Given the description of an element on the screen output the (x, y) to click on. 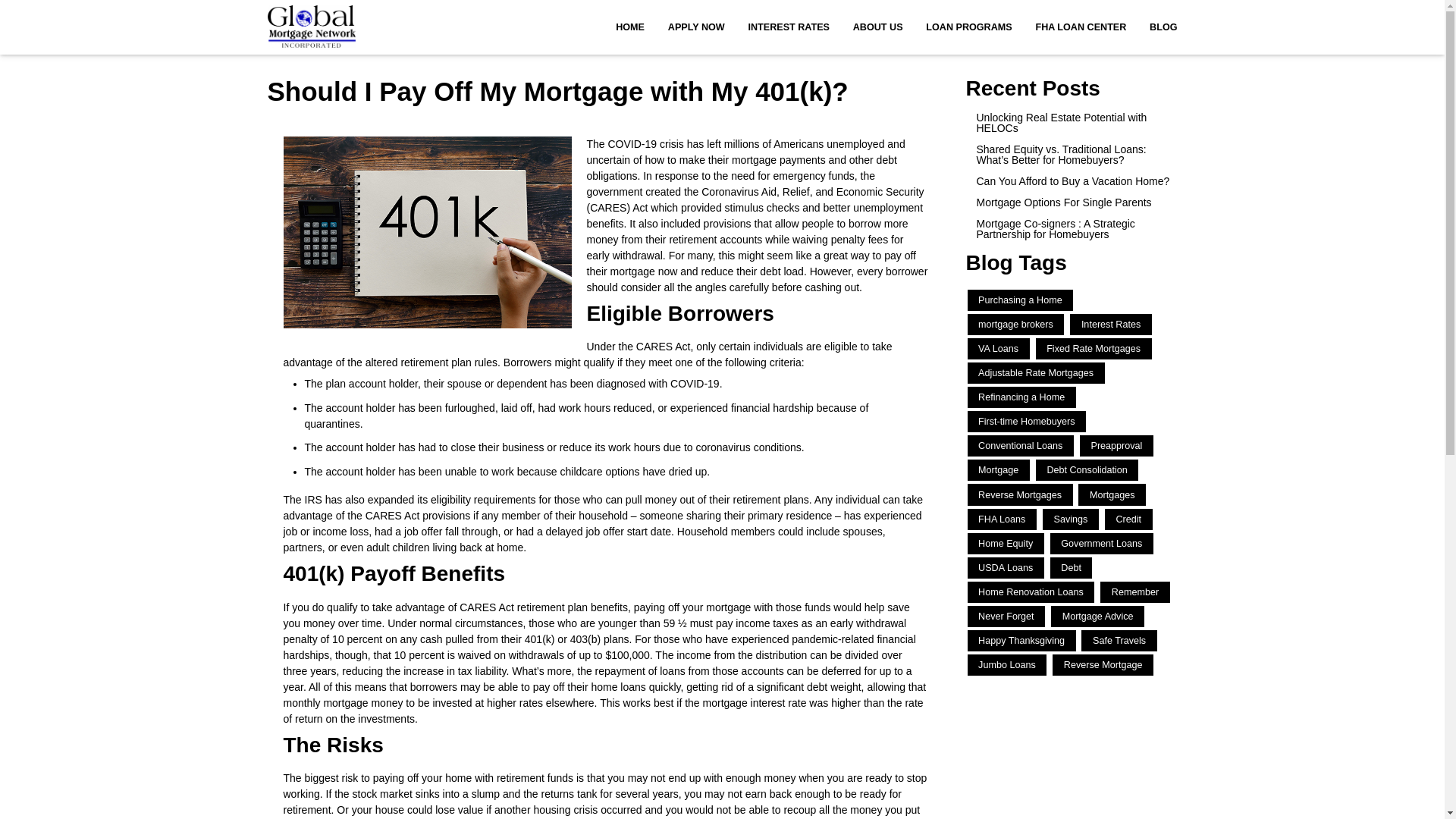
Interest Rates (1110, 323)
LOAN PROGRAMS (968, 27)
Preapproval (1116, 445)
Adjustable Rate Mortgages (1036, 373)
Purchasing a Home (1021, 300)
Conventional Loans (1021, 445)
Mortgage Options For Single Parents (1071, 202)
Fixed Rate Mortgages (1093, 348)
Refinancing a Home (1021, 396)
First-time Homebuyers (1027, 421)
APPLY NOW (696, 27)
Unlocking Real Estate Potential with HELOCs (1071, 122)
VA Loans (998, 348)
Mortgage Co-signers : A Strategic Partnership for Homebuyers (1071, 228)
HOME (630, 27)
